Given the description of an element on the screen output the (x, y) to click on. 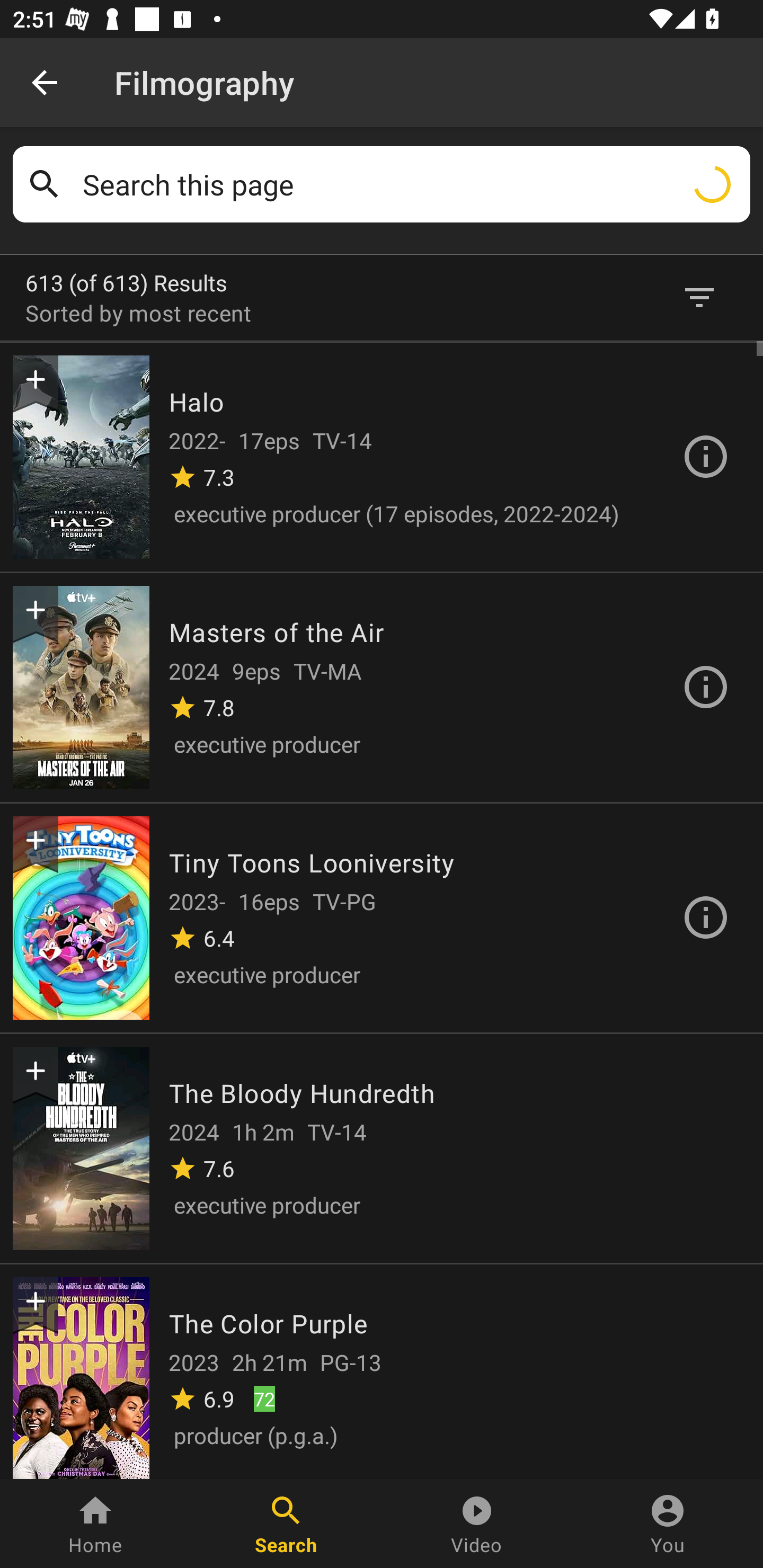
Search this page (410, 184)
Home (95, 1523)
Video (476, 1523)
You (667, 1523)
